Given the description of an element on the screen output the (x, y) to click on. 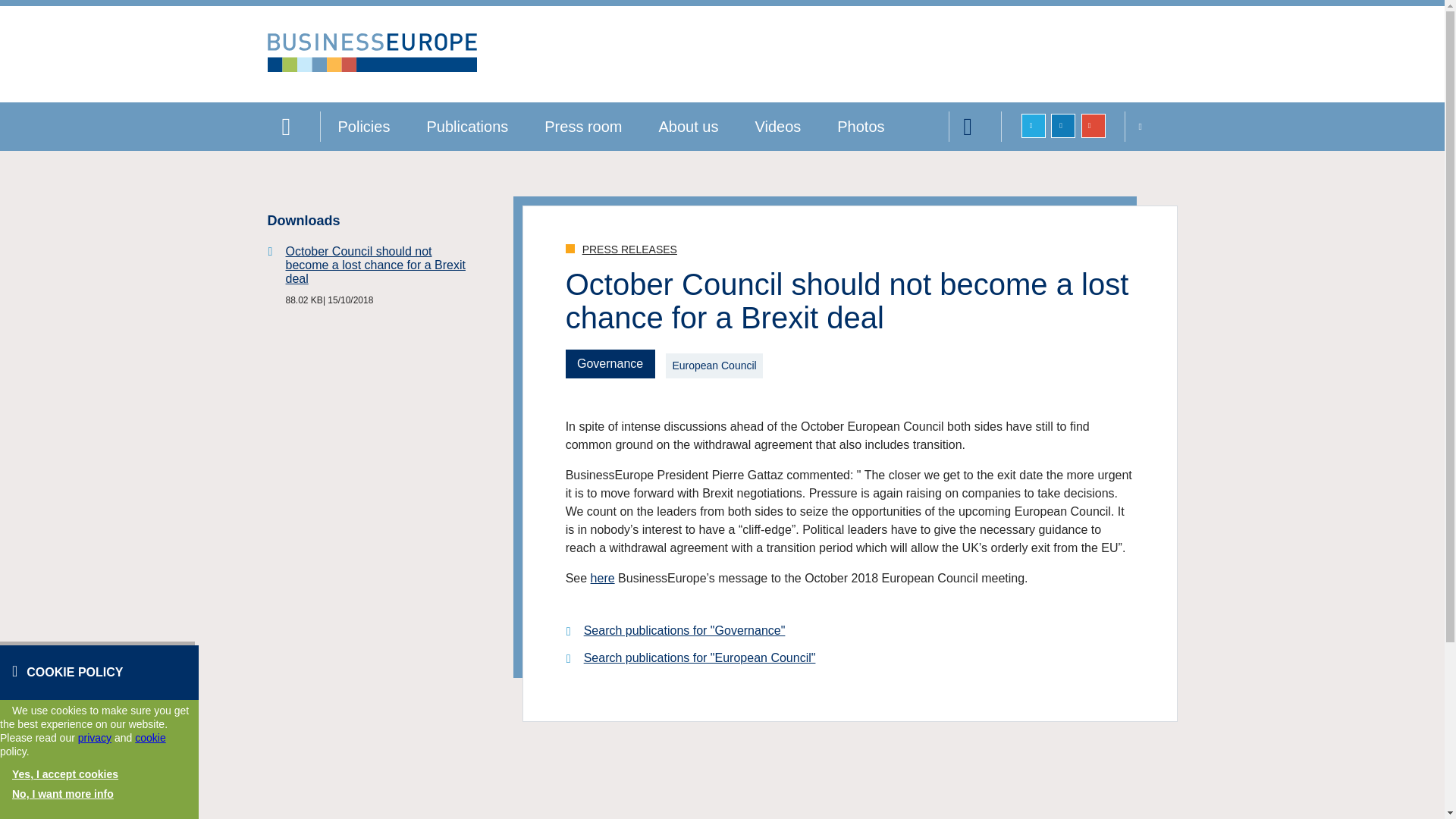
View our profile on Twitter (1033, 125)
Home (371, 67)
Search this website (975, 126)
View our profile on Youtube (1093, 125)
Home (293, 126)
View our profile on LinkedIn (1063, 125)
Login with your username and password (1150, 126)
